Given the description of an element on the screen output the (x, y) to click on. 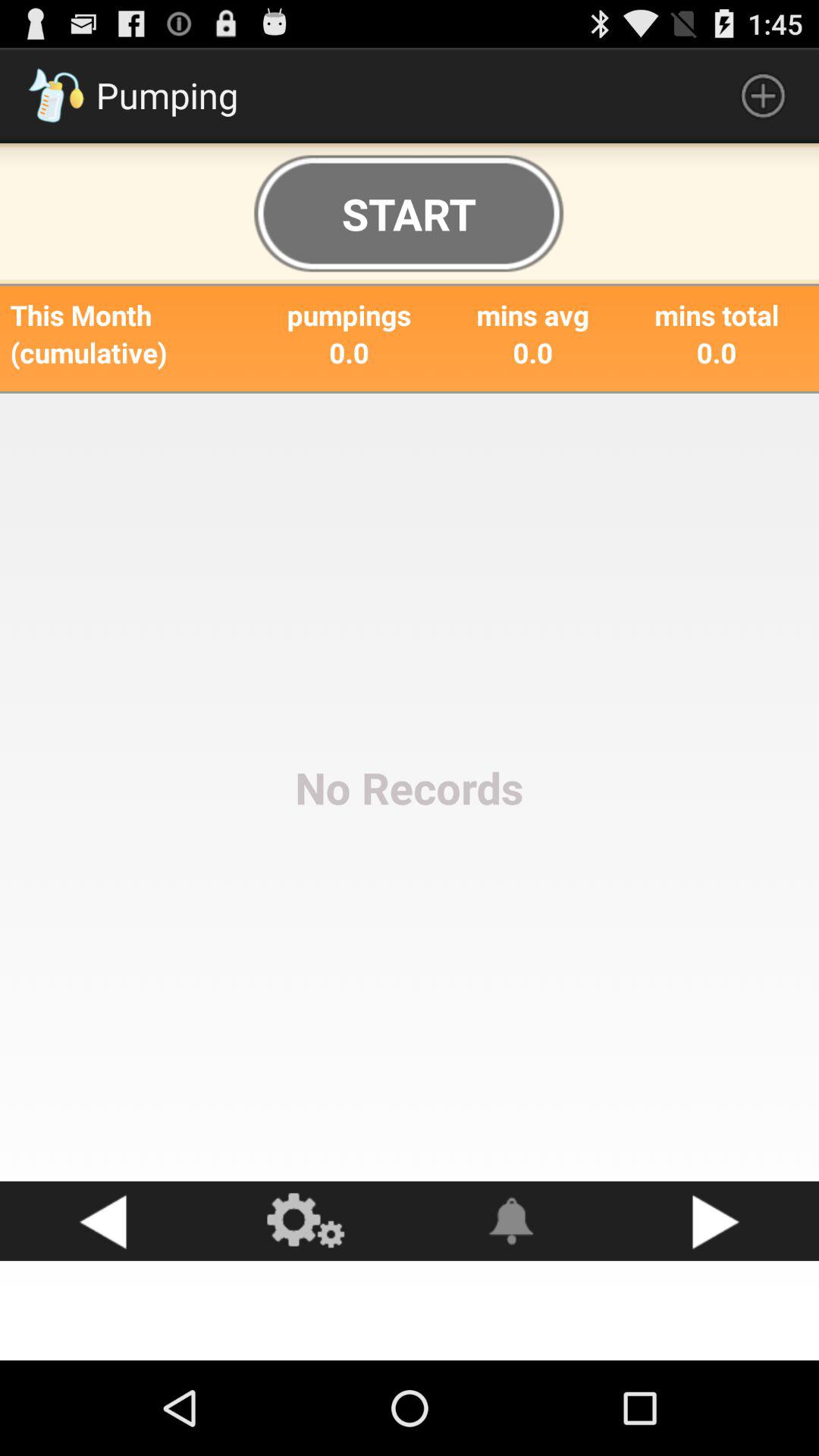
go to settings (306, 1220)
